Given the description of an element on the screen output the (x, y) to click on. 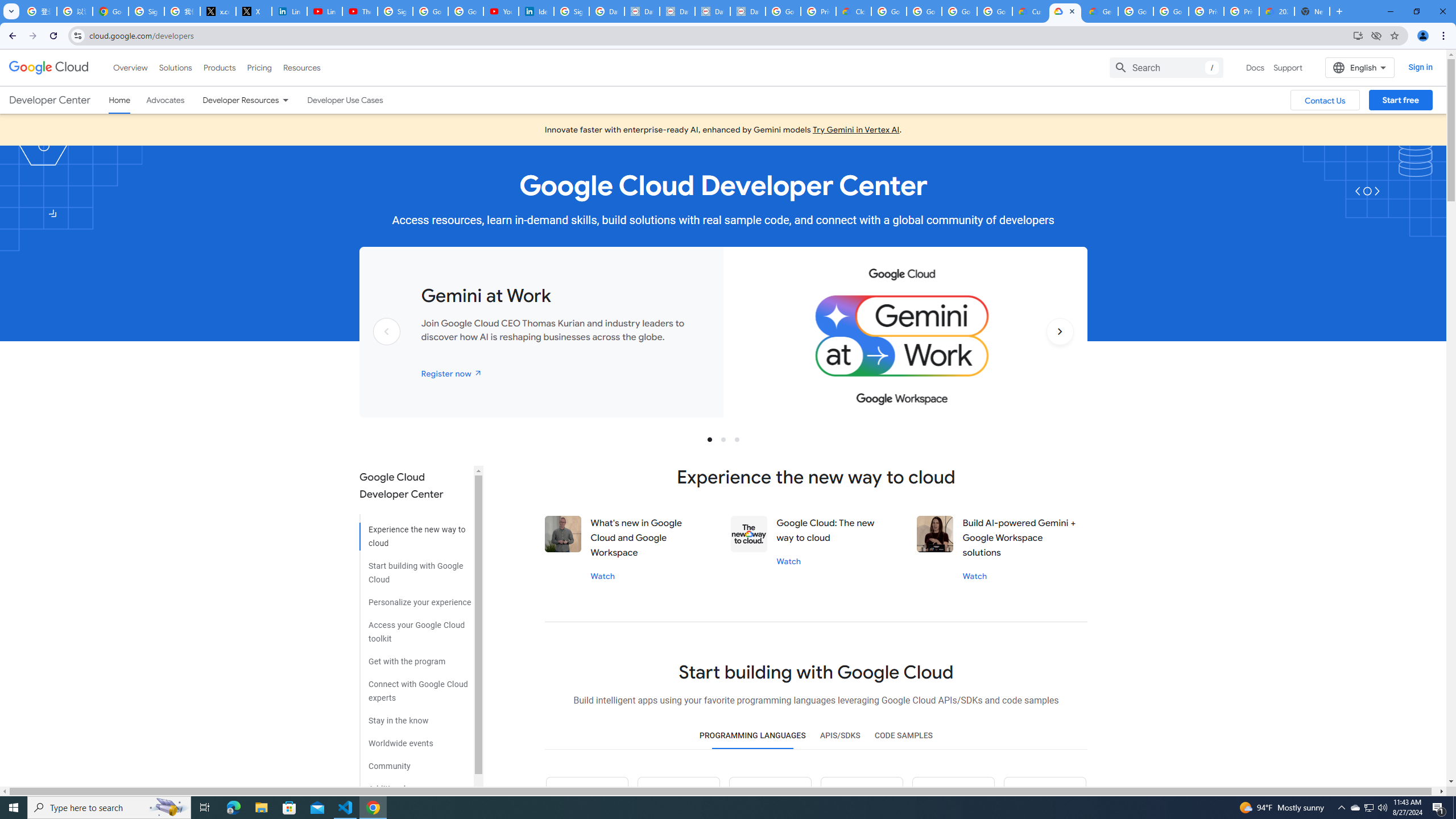
PROGRAMMING LANGUAGES (752, 735)
Docs (1254, 67)
English (1359, 67)
Dot net icon (952, 798)
Google Cloud (48, 67)
Ruby icon (860, 798)
Sign in - Google Accounts (145, 11)
